Given the description of an element on the screen output the (x, y) to click on. 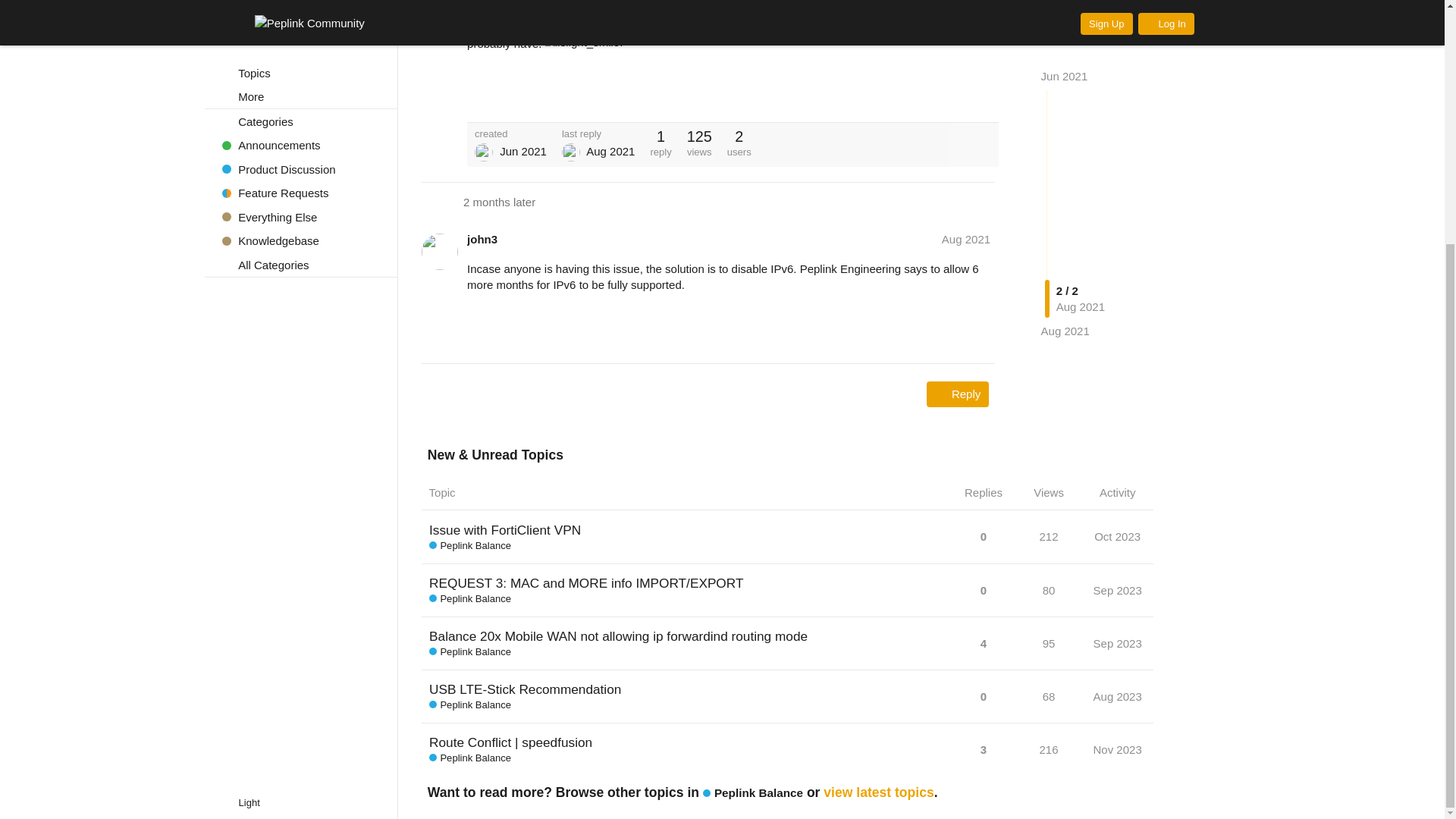
Light (249, 464)
Aug 2021 (1065, 35)
Keyboard Shortcuts (378, 464)
last reply (598, 133)
